Given the description of an element on the screen output the (x, y) to click on. 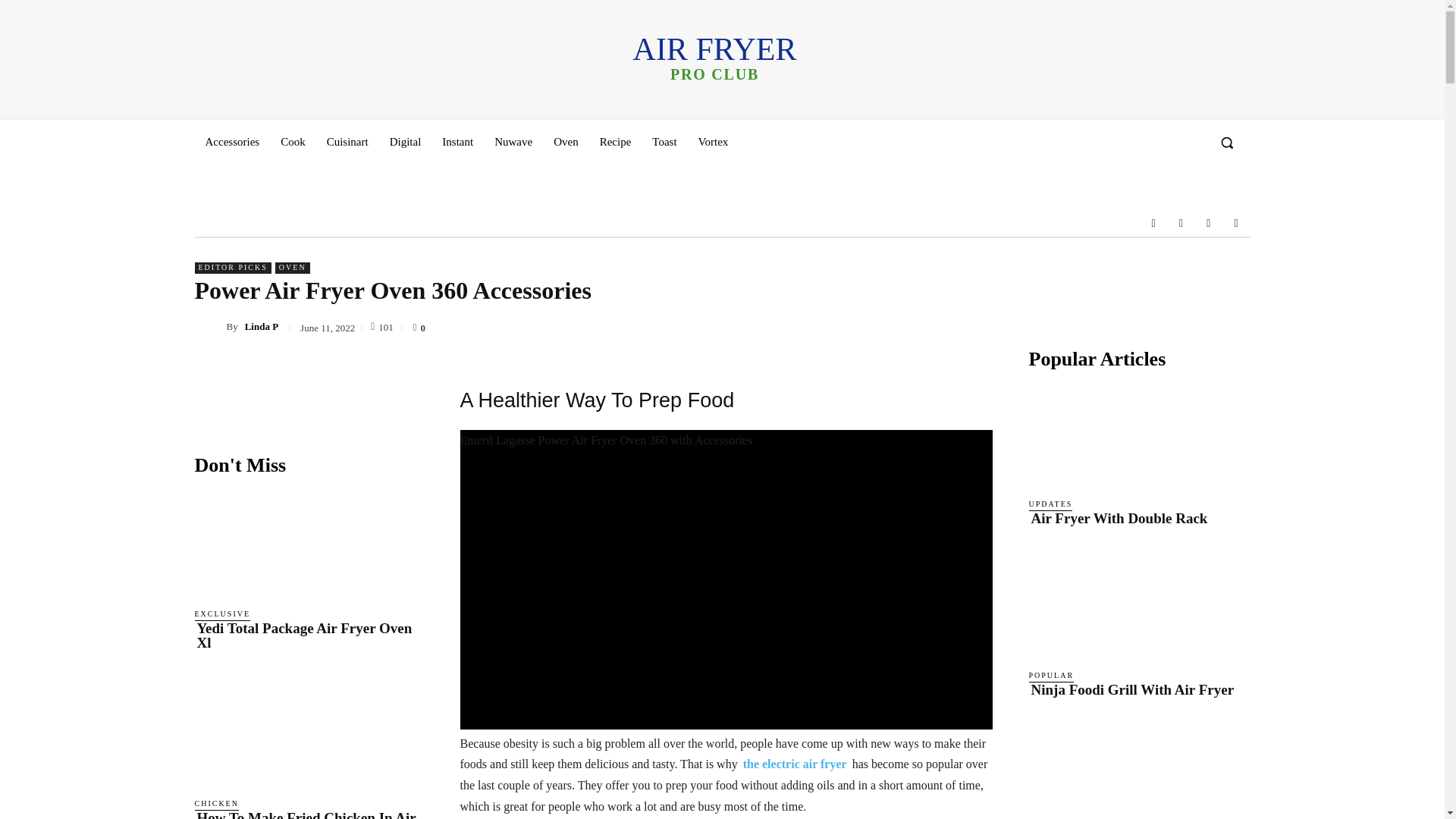
Facebook (1153, 222)
VKontakte (1209, 222)
Nuwave (513, 141)
Accessories (231, 141)
Instagram (1180, 222)
Youtube (1236, 222)
Cuisinart (346, 141)
Recipe (615, 141)
Instant (456, 141)
Oven (566, 141)
Digital (405, 141)
Cook (292, 141)
Vortex (713, 141)
Toast (664, 141)
